Given the description of an element on the screen output the (x, y) to click on. 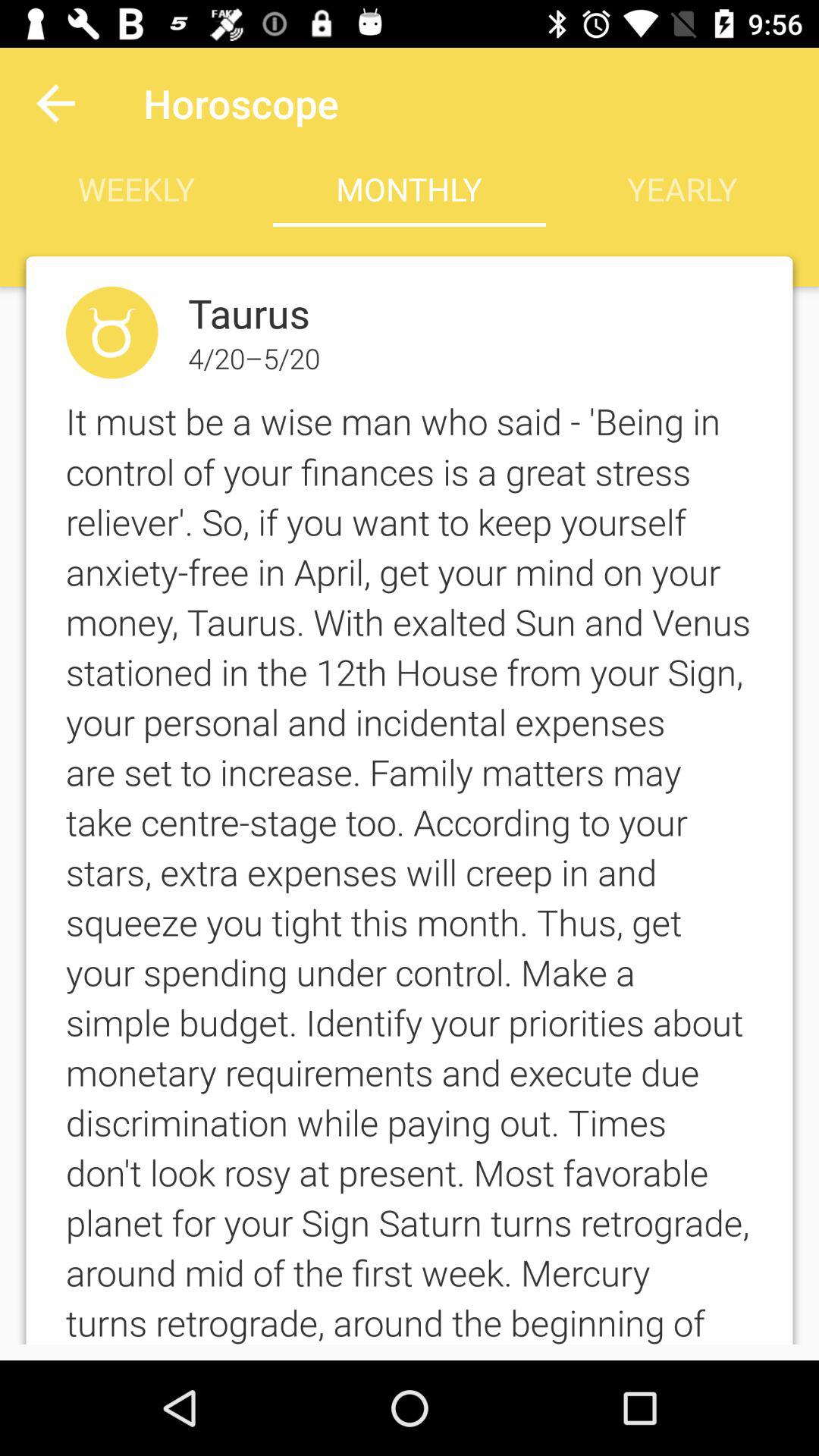
click the icon next to the horoscope item (55, 103)
